Given the description of an element on the screen output the (x, y) to click on. 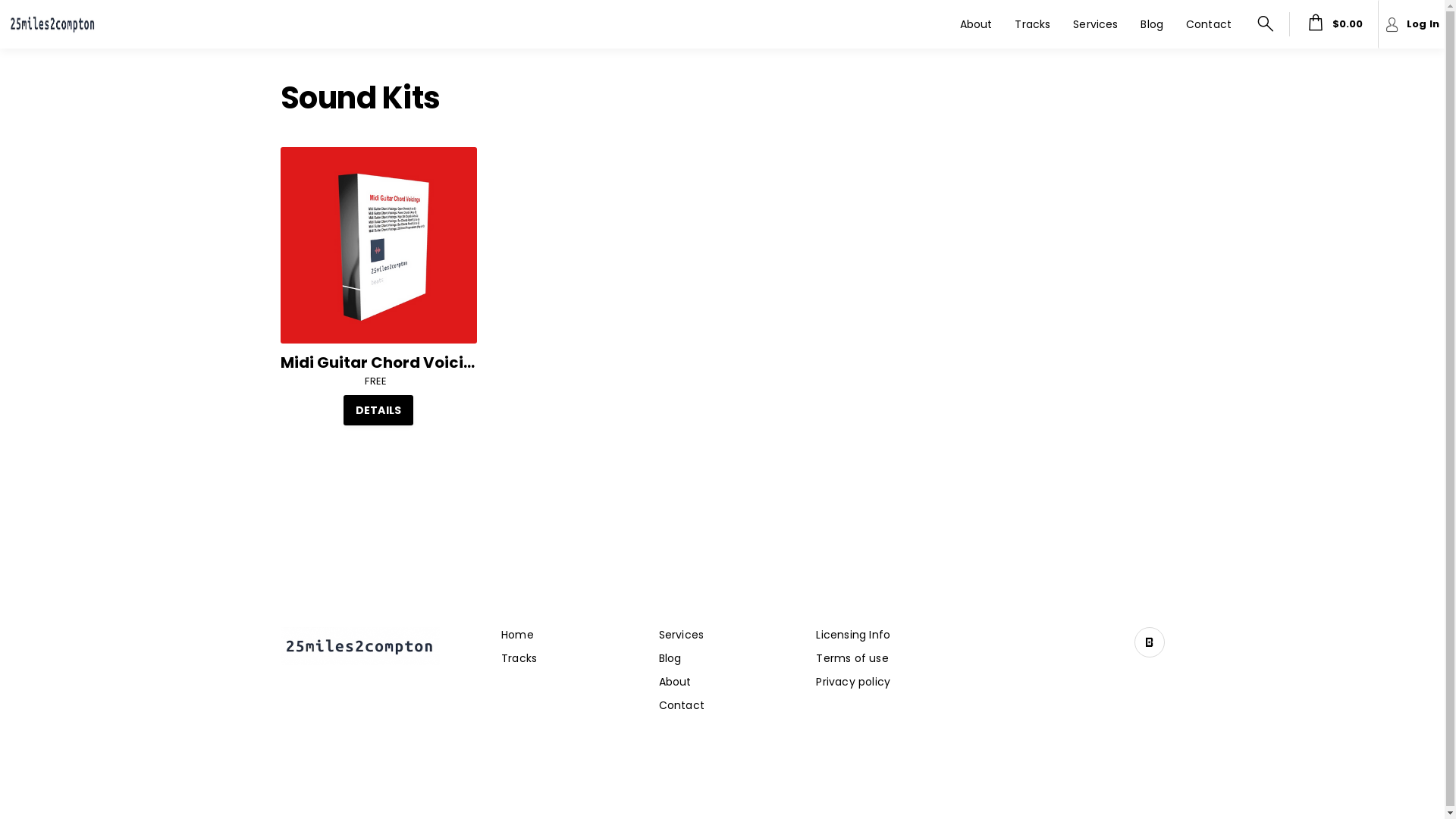
Blog Element type: text (669, 657)
Tracks Element type: text (518, 657)
Terms of use Element type: text (851, 657)
Log In Element type: text (1410, 24)
About Element type: text (674, 681)
Tracks Element type: text (1032, 24)
Services Element type: text (681, 634)
Contact Element type: text (1208, 24)
DETAILS Element type: text (378, 410)
Services Element type: text (1095, 24)
Contact Element type: text (681, 704)
About Element type: text (976, 24)
Midi Guitar Chord Voicings
FREE  
DETAILS Element type: text (378, 286)
Privacy policy Element type: text (852, 681)
Home Element type: text (517, 634)
Blog Element type: text (1151, 24)
Licensing Info Element type: text (852, 634)
